Given the description of an element on the screen output the (x, y) to click on. 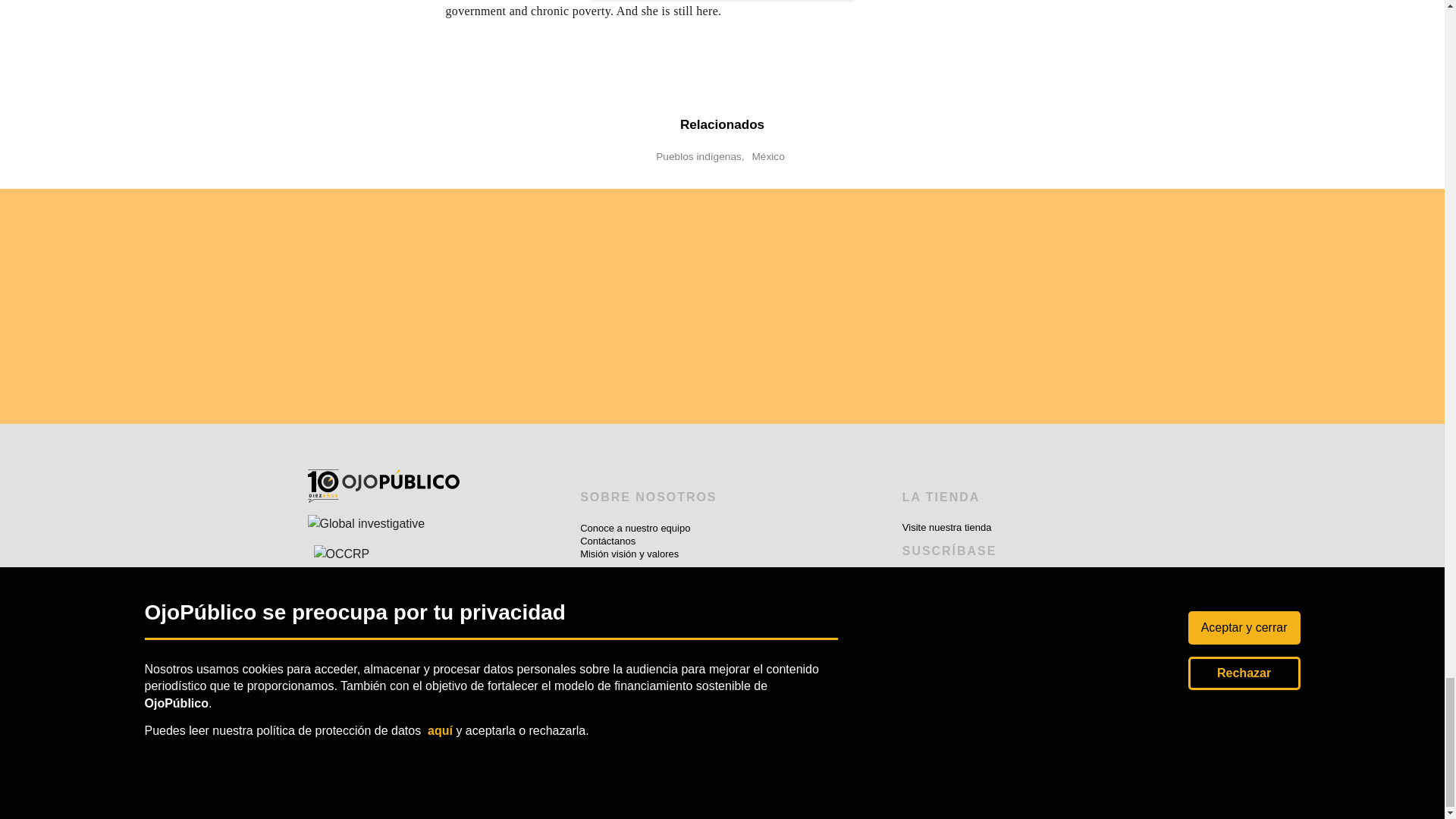
3rd party ad content (618, 306)
3rd party ad content (825, 306)
Suscribirse (494, 795)
3rd party ad content (410, 306)
